Given the description of an element on the screen output the (x, y) to click on. 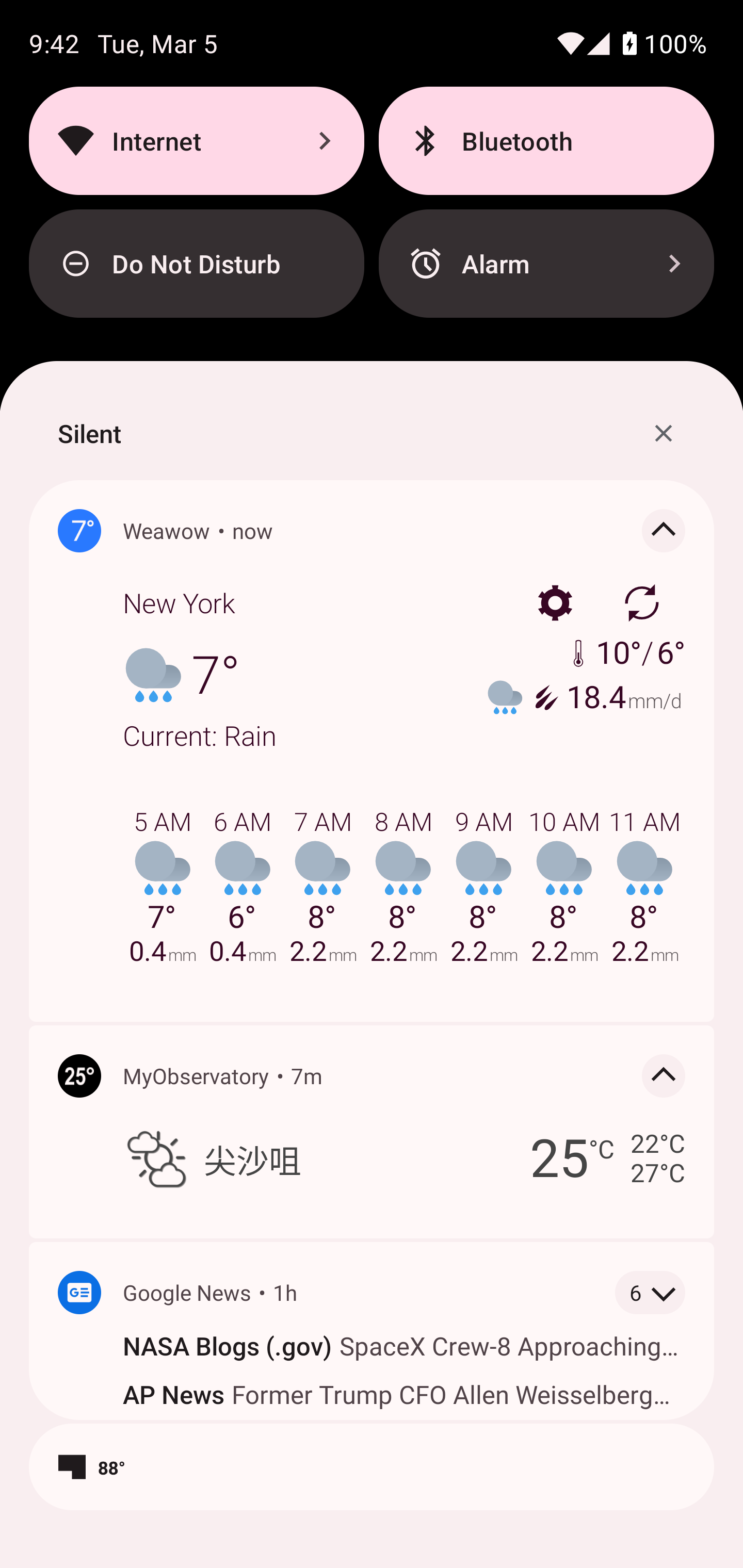
On Internet,AndroidWifi Internet (196, 140)
On Bluetooth. Bluetooth (546, 140)
Off Do Not Disturb. Do Not Disturb (196, 264)
Alarm, No alarm set Alarm (546, 264)
Silent (89, 433)
Clear all silent notifications (663, 433)
Collapse (663, 530)
Collapse (663, 1075)
Expand 6 (650, 1292)
